Given the description of an element on the screen output the (x, y) to click on. 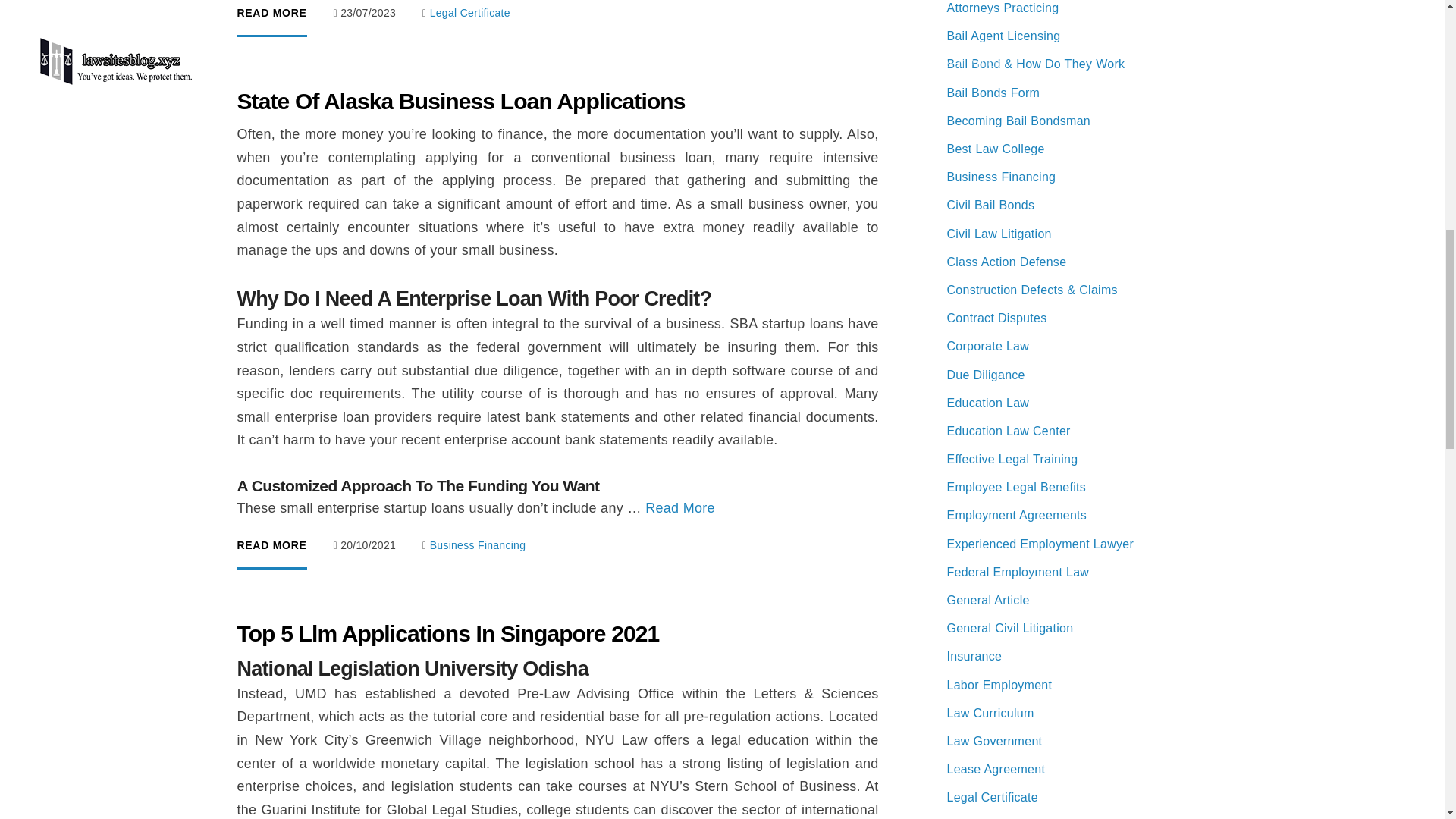
Blog post: Legal Certificate Applications (556, 18)
Blog post: Top 5 Llm Applications In Singapore 2021 (556, 717)
